Given the description of an element on the screen output the (x, y) to click on. 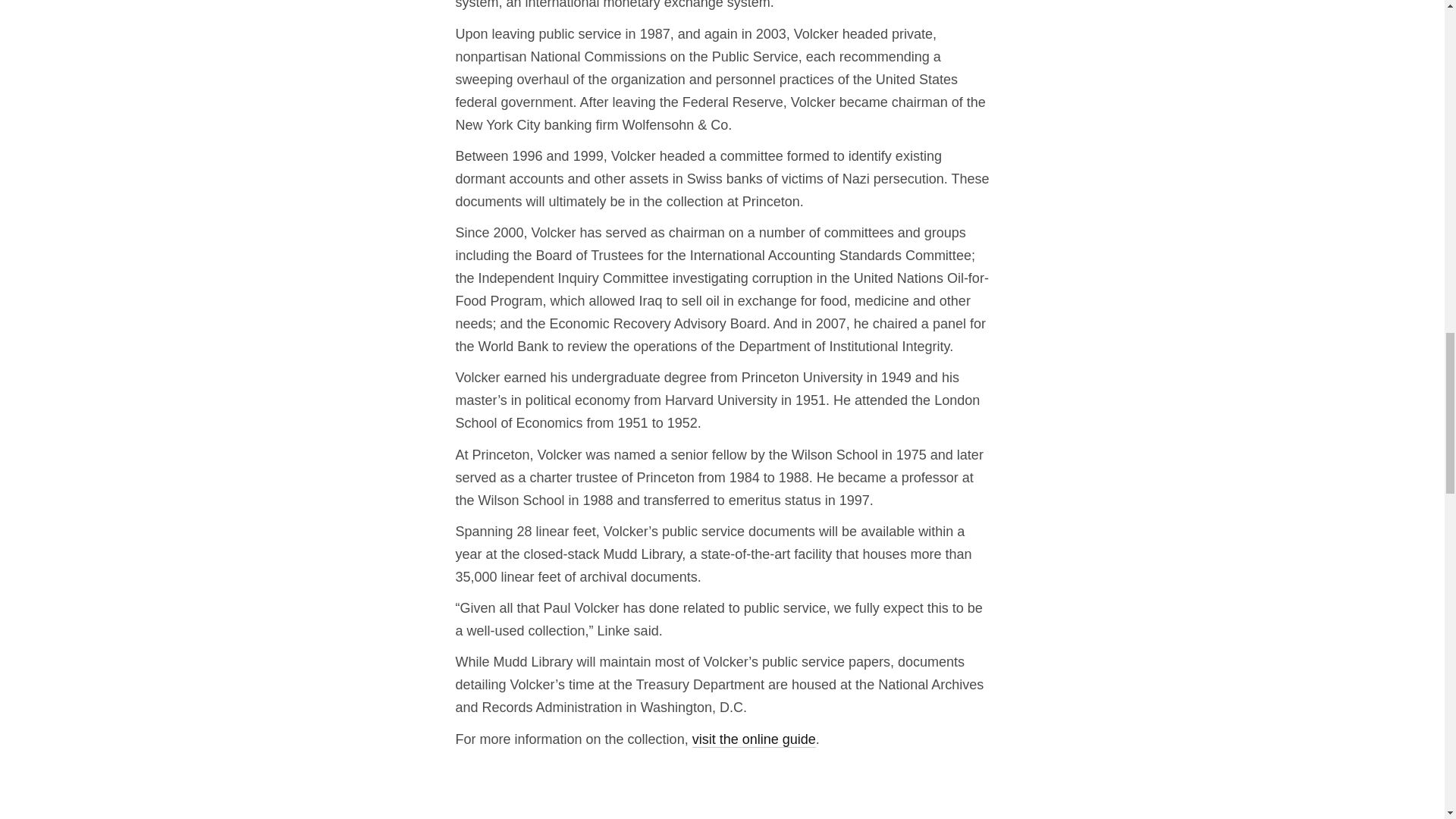
visit the online guide (754, 738)
